Given the description of an element on the screen output the (x, y) to click on. 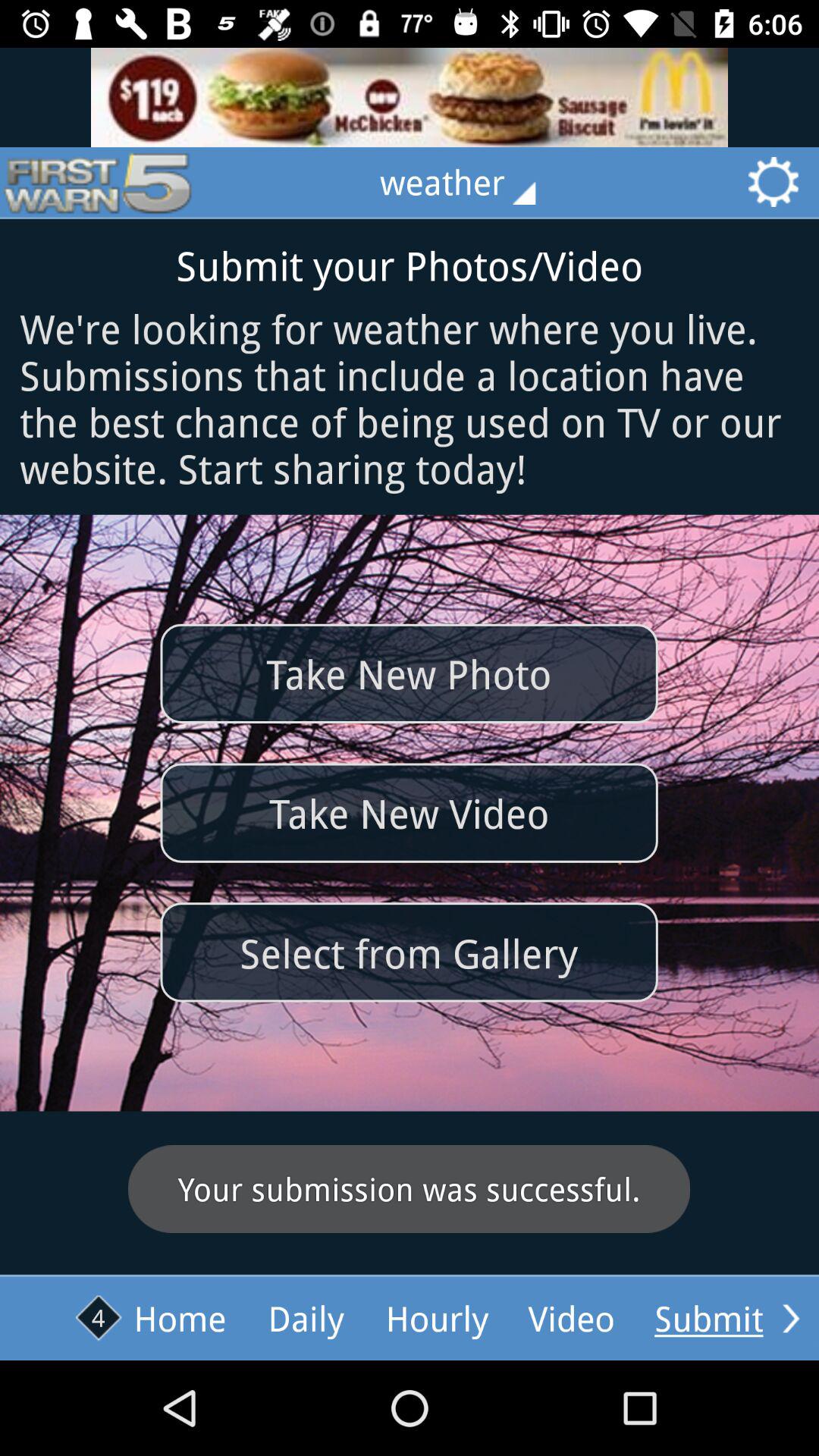
go to next option (791, 1318)
